Given the description of an element on the screen output the (x, y) to click on. 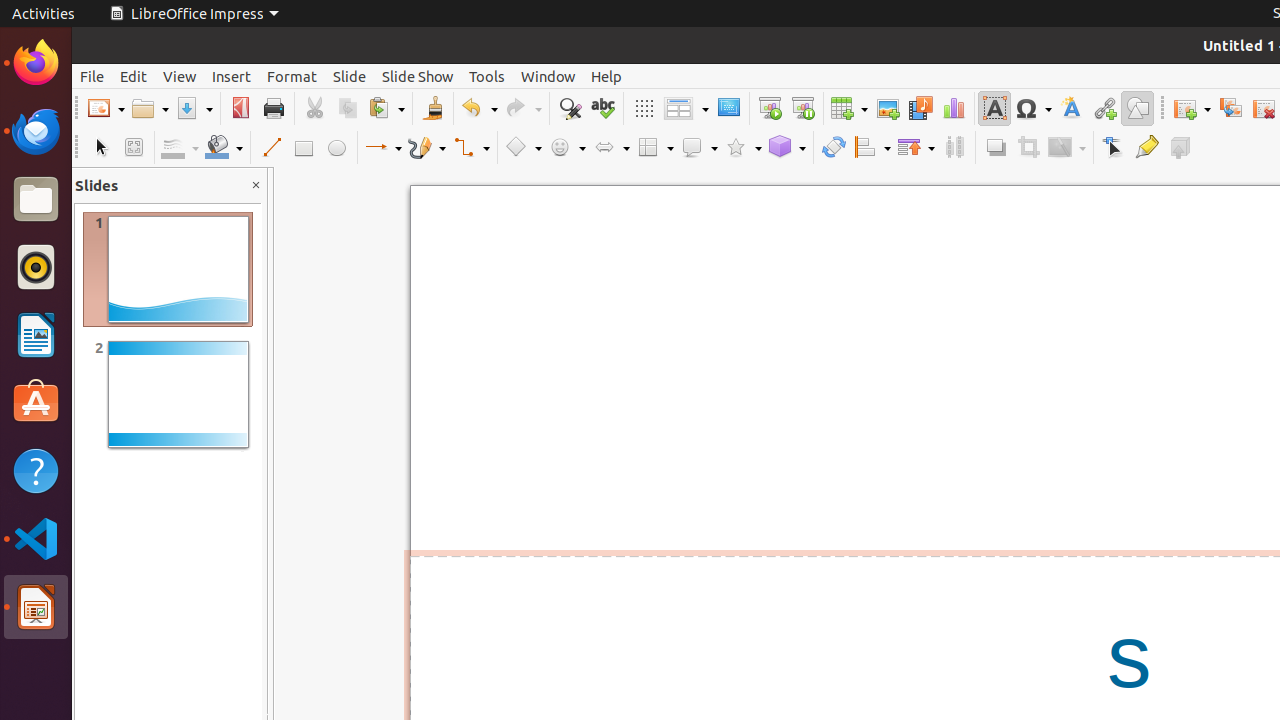
New Slide Element type: push-button (1192, 108)
Start from Current Slide Element type: push-button (802, 108)
LibreOffice Impress Element type: menu (193, 13)
Table Element type: push-button (849, 108)
Toggle Extrusion Element type: push-button (1179, 147)
